Given the description of an element on the screen output the (x, y) to click on. 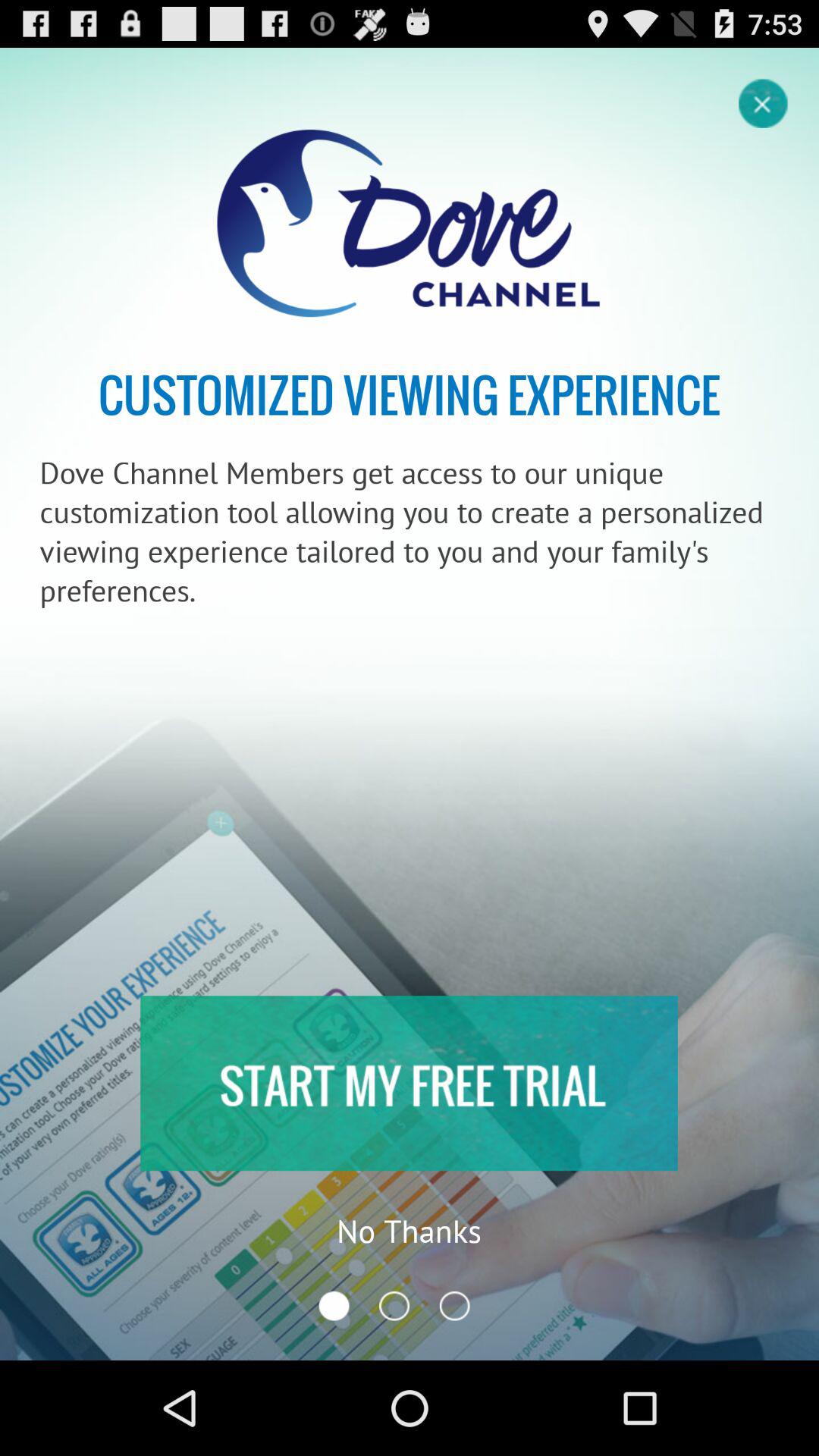
close page (763, 102)
